Given the description of an element on the screen output the (x, y) to click on. 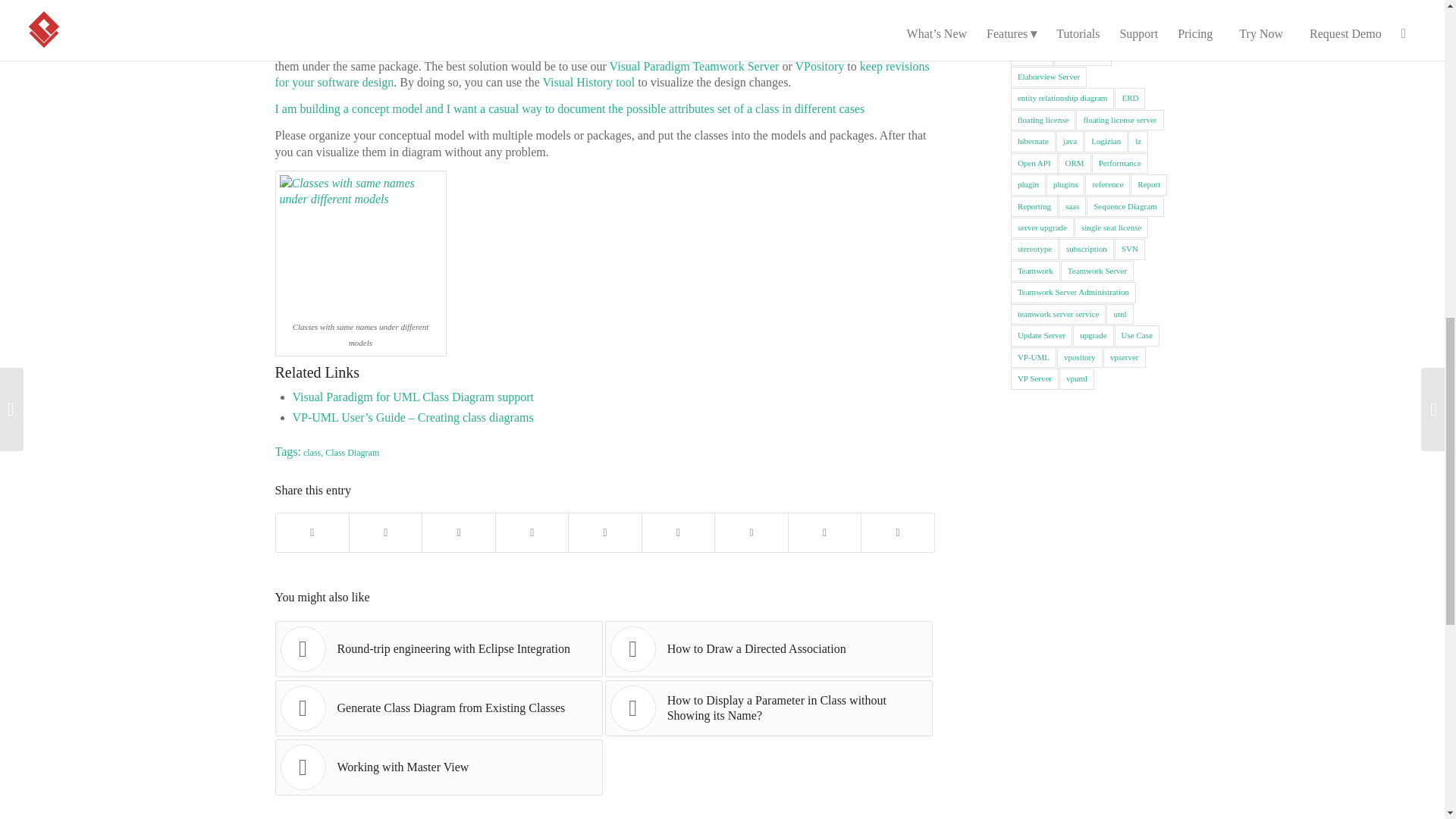
keep revisions for your software design (601, 73)
class (311, 452)
Visual Paradigm Teamwork Server (694, 65)
VPository official website (819, 65)
Visual Paradigm Teamwork Server (694, 65)
VP-UML User's Guide - Creating class diagrams (413, 417)
Team Collaboration of Teamwork Server (601, 73)
VP-UML class diagram support (413, 396)
Visual History tool (587, 82)
VPository (819, 65)
